Given the description of an element on the screen output the (x, y) to click on. 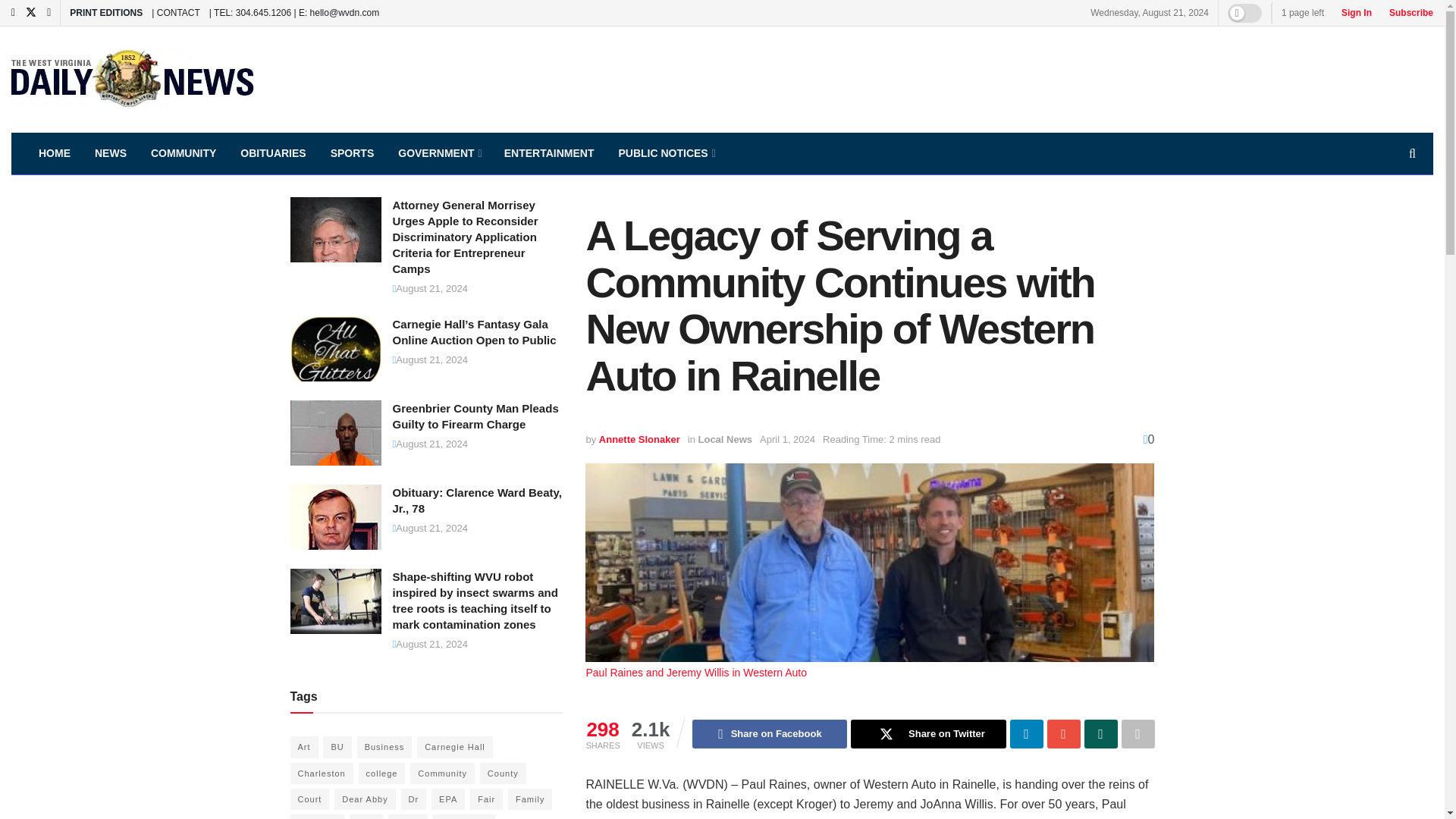
PRINT EDITIONS (105, 12)
NEWS (110, 153)
Subscribe (1406, 12)
Sign In (1352, 12)
GOVERNMENT (438, 153)
HOME (54, 153)
COMMUNITY (183, 153)
SPORTS (352, 153)
OBITUARIES (272, 153)
